Given the description of an element on the screen output the (x, y) to click on. 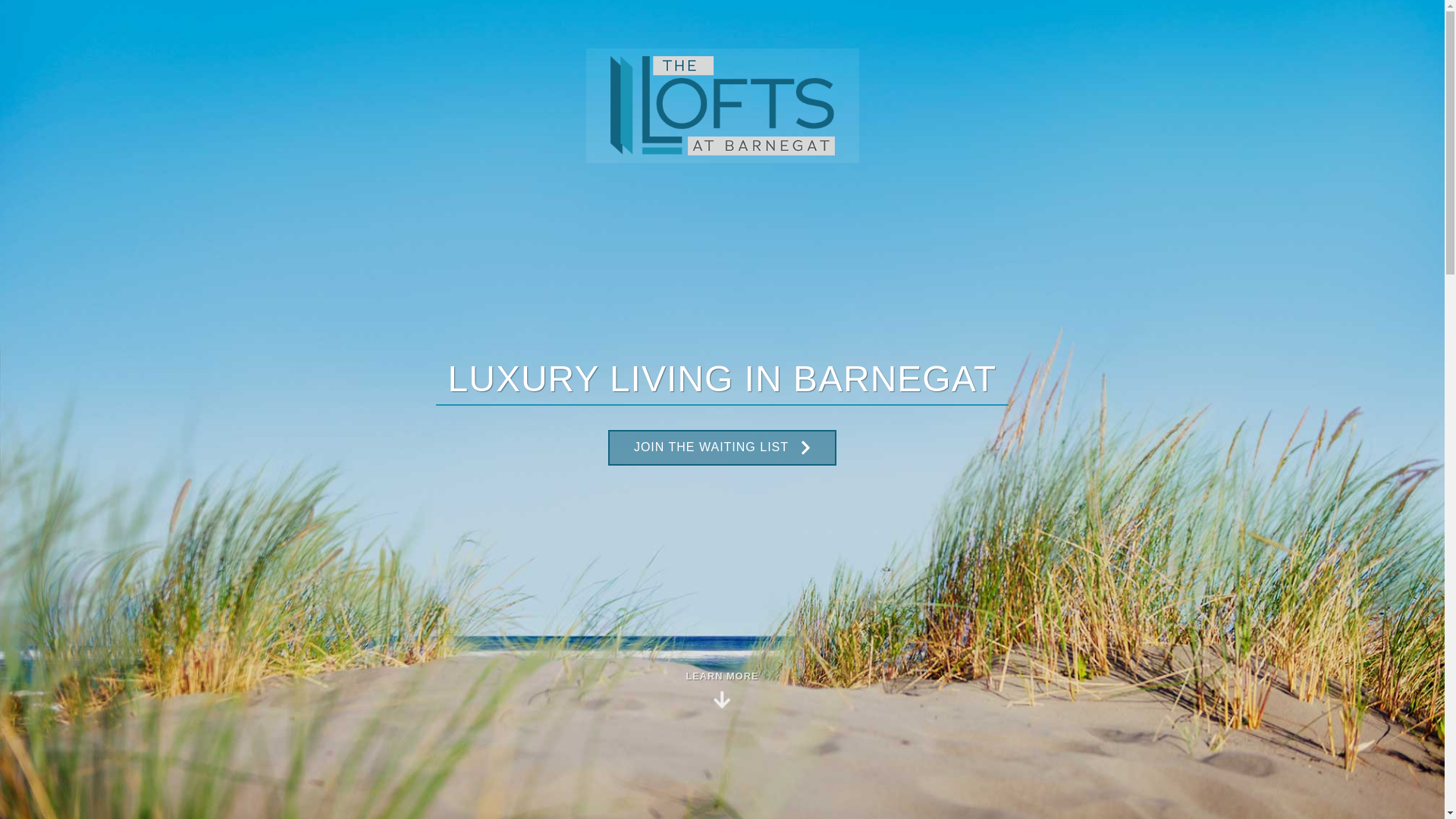
JOIN THE WAITING LIST (721, 447)
LEARN MORE (721, 688)
JOIN THE WAITING LIST (721, 447)
LEARN MORE (721, 688)
